Given the description of an element on the screen output the (x, y) to click on. 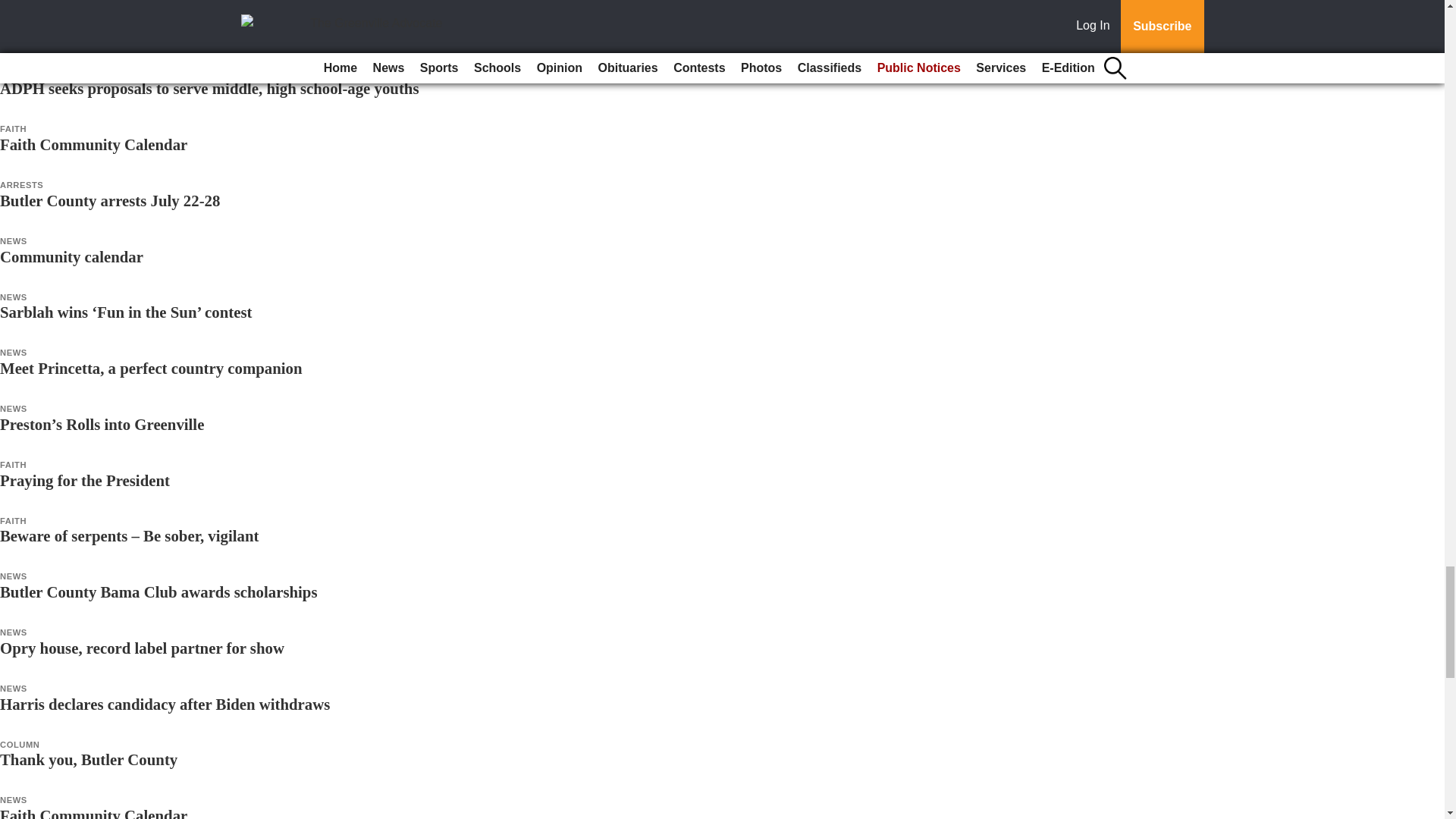
Norman McGowin provides decades of dedicated care (181, 32)
Opry house, record label partner for show (141, 647)
Harris declares candidacy after Biden withdraws (165, 703)
Butler County Bama Club awards scholarships (158, 591)
ADPH seeks proposals to serve middle, high school-age youths (209, 88)
Faith Community Calendar (93, 144)
Norman McGowin provides decades of dedicated care (181, 32)
Community calendar (71, 256)
ADPH seeks proposals to serve middle, high school-age youths (209, 88)
Thank you, Butler County (88, 759)
